Given the description of an element on the screen output the (x, y) to click on. 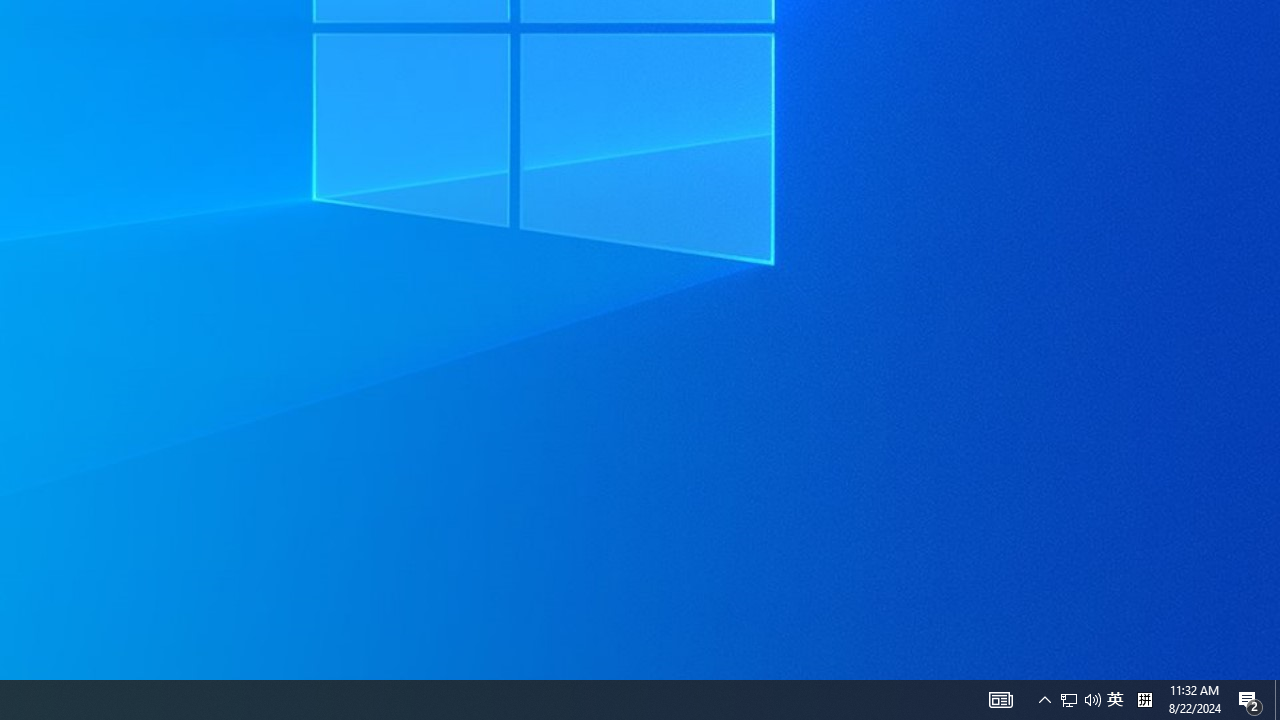
User Promoted Notification Area (1080, 699)
Q2790: 100% (1092, 699)
Action Center, 2 new notifications (1115, 699)
Notification Chevron (1250, 699)
Show desktop (1044, 699)
AutomationID: 4105 (1277, 699)
Tray Input Indicator - Chinese (Simplified, China) (1069, 699)
